Given the description of an element on the screen output the (x, y) to click on. 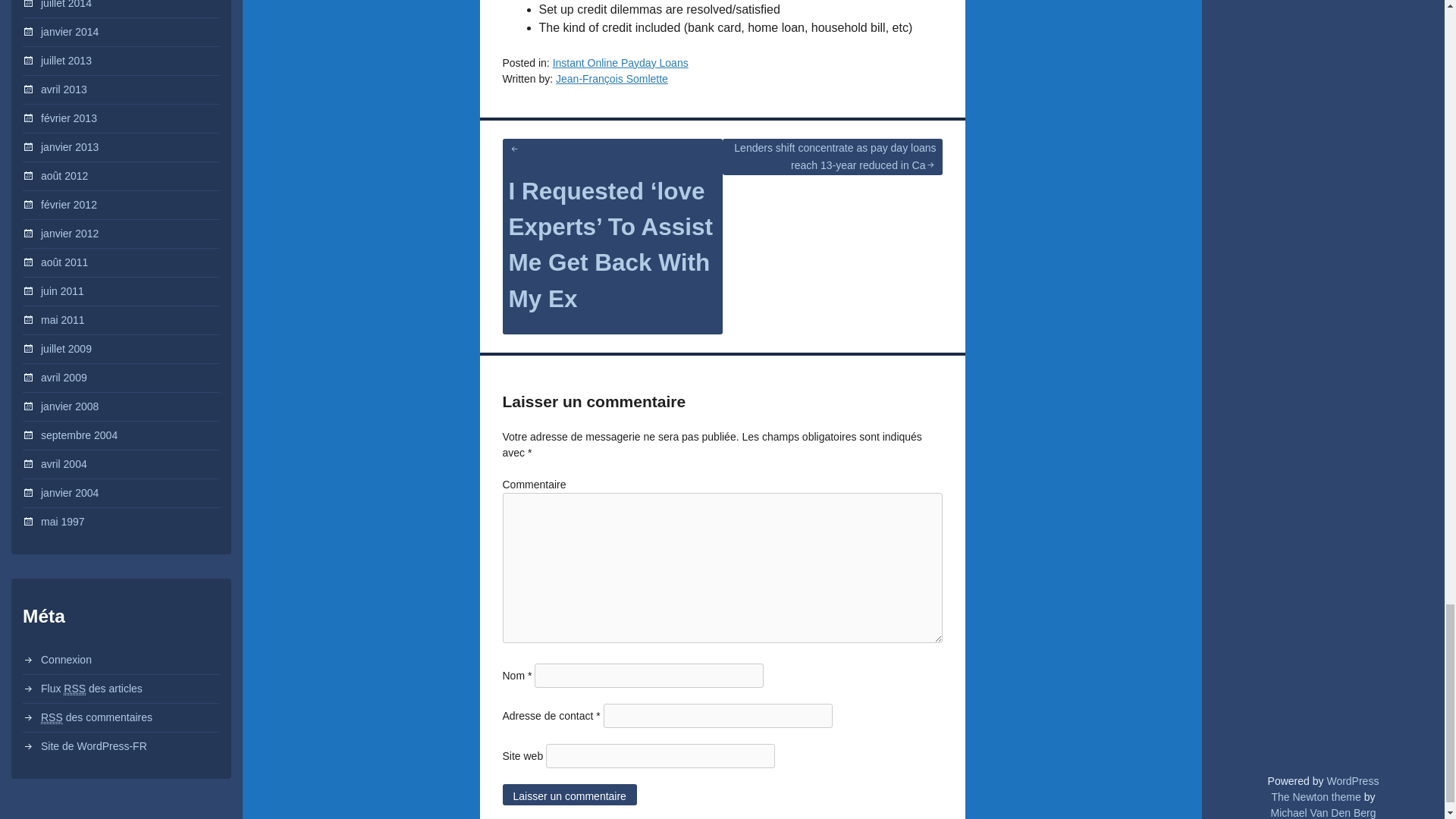
Really Simple Syndication (51, 717)
Really Simple Syndication (74, 688)
Laisser un commentaire (569, 794)
